Given the description of an element on the screen output the (x, y) to click on. 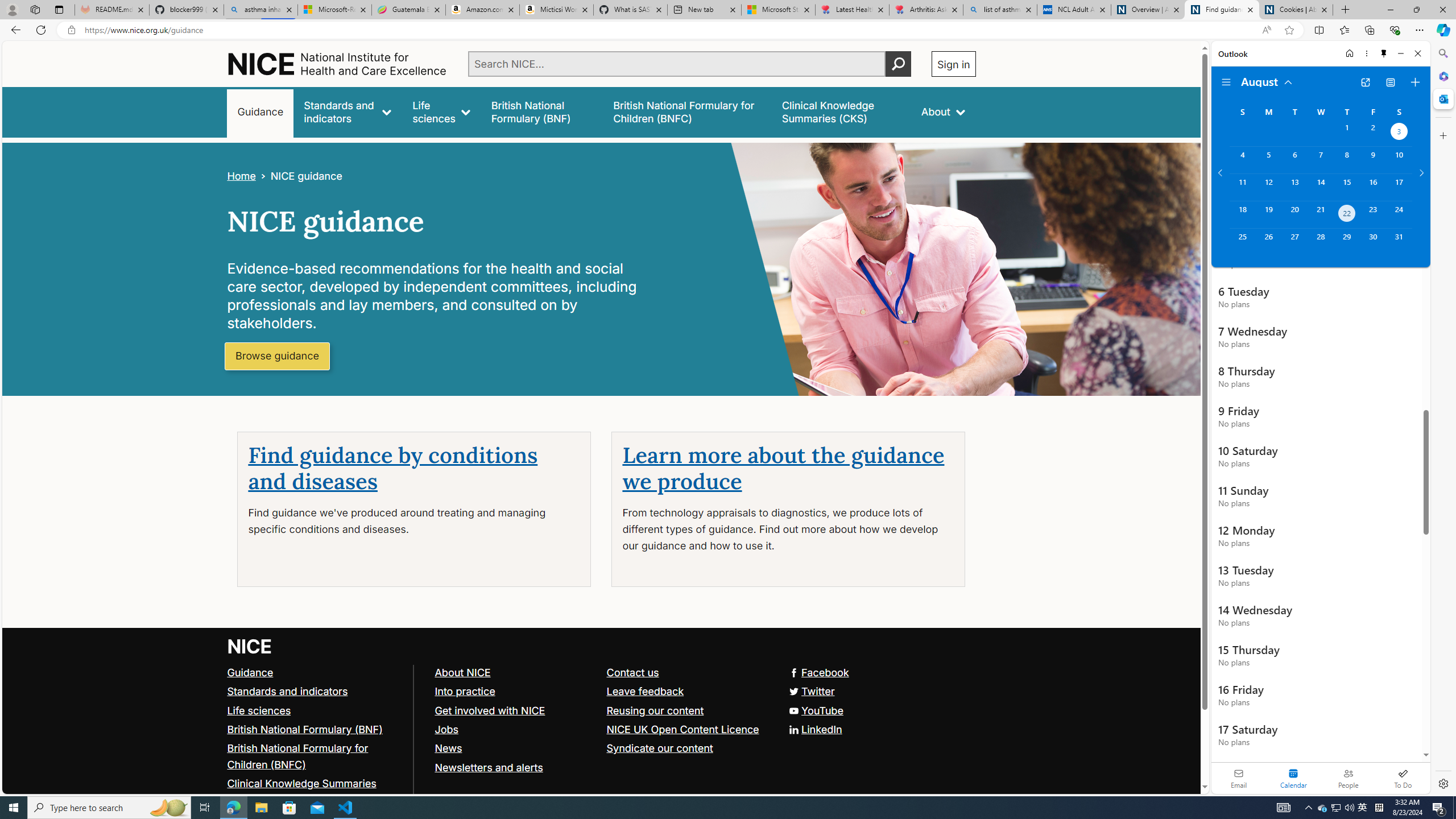
Selected calendar module. Date today is 22 (1293, 777)
Monday, August 12, 2024.  (1268, 186)
Contact us (686, 672)
Perform search (898, 63)
Contact us (632, 671)
Sunday, August 25, 2024.  (1242, 241)
